Given the description of an element on the screen output the (x, y) to click on. 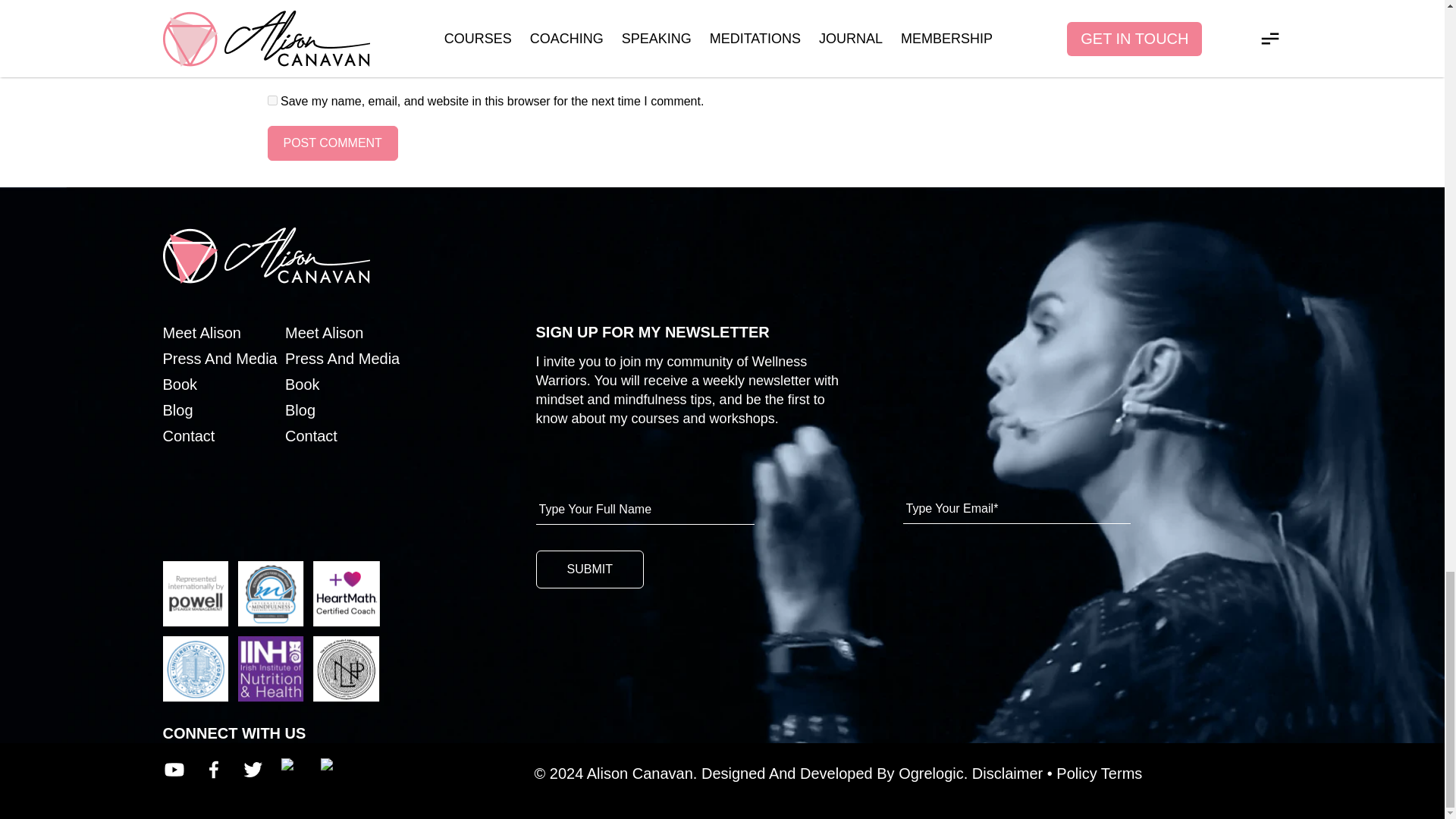
Submit (589, 569)
Post Comment (331, 143)
Post Comment (331, 143)
yes (271, 100)
